Given the description of an element on the screen output the (x, y) to click on. 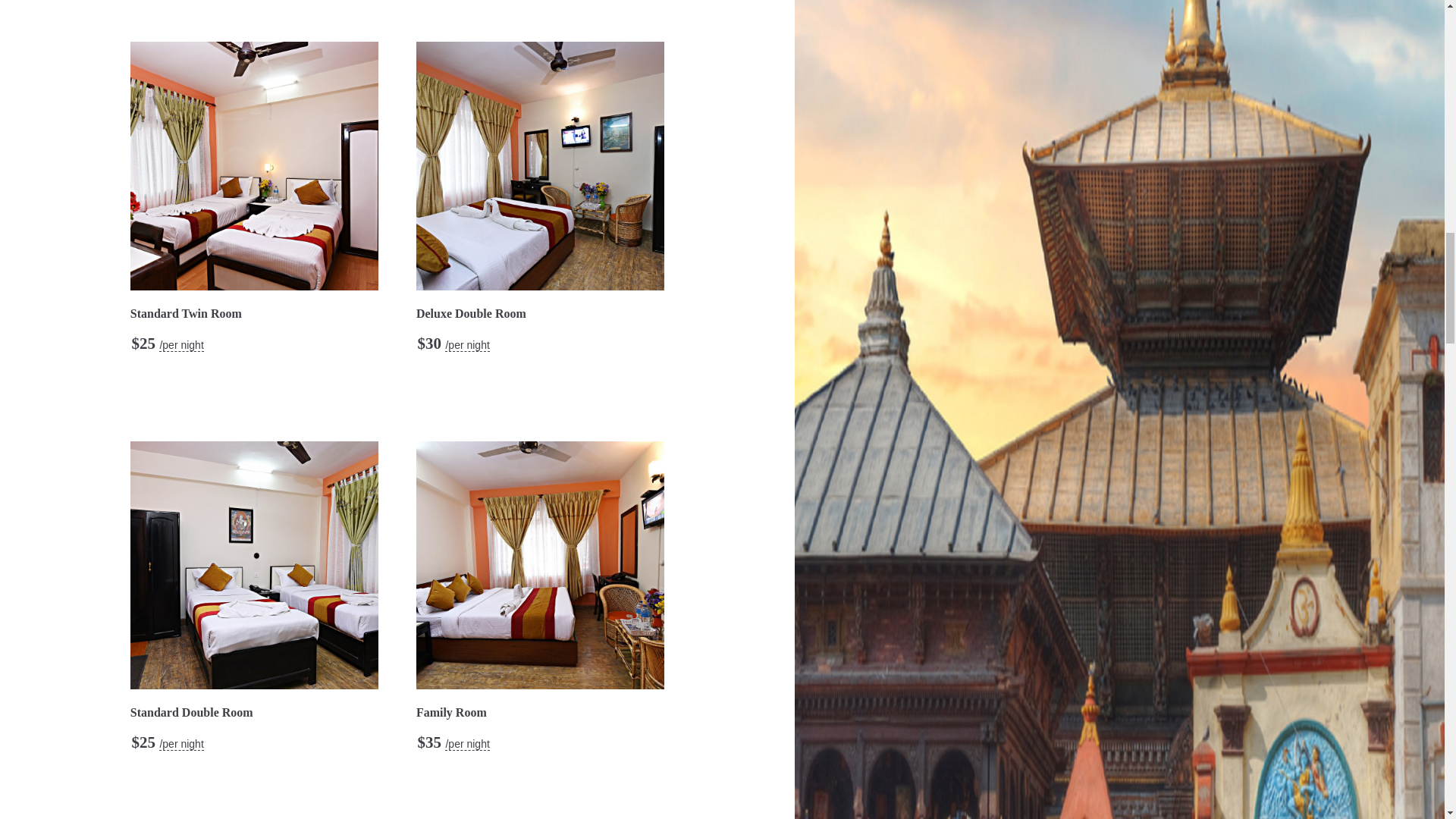
Choose dates to see relevant prices (467, 744)
Choose dates to see relevant prices (467, 345)
Choose dates to see relevant prices (180, 345)
Choose dates to see relevant prices (180, 744)
